Given the description of an element on the screen output the (x, y) to click on. 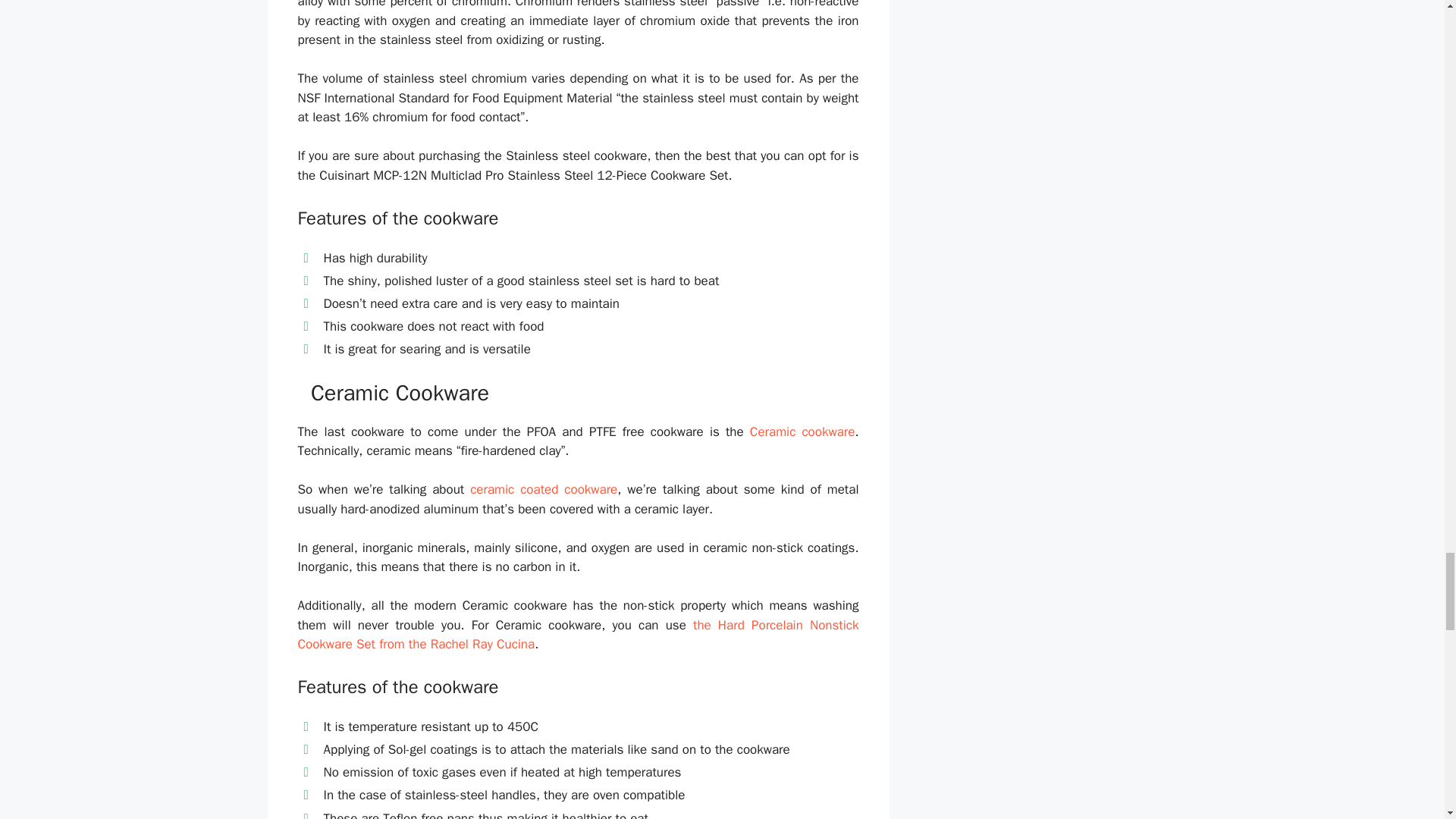
ceramic coated cookware (543, 489)
Ceramic cookware (802, 431)
